Given the description of an element on the screen output the (x, y) to click on. 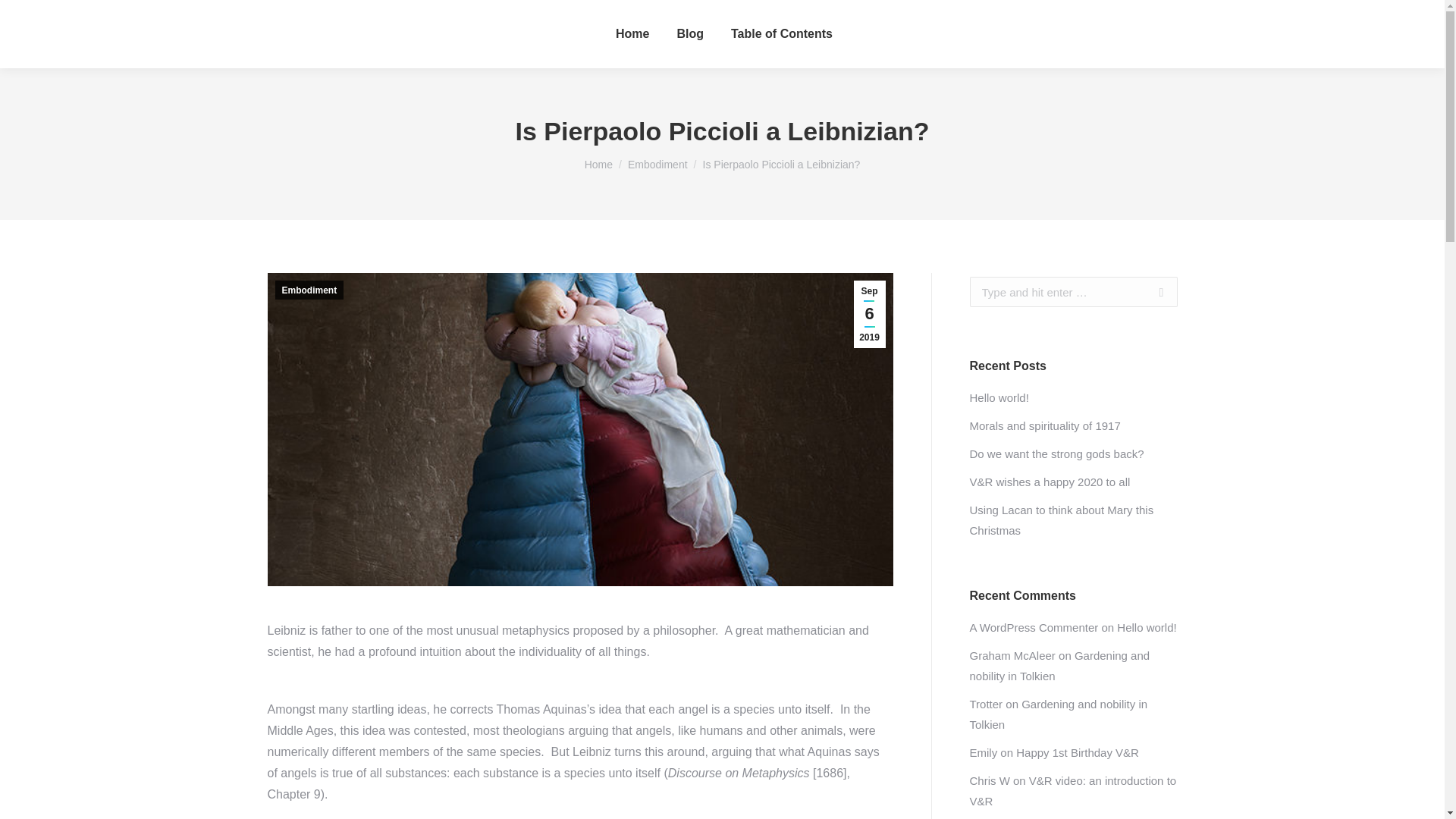
Home (632, 33)
Table of Contents (781, 33)
Home (598, 164)
Embodiment (309, 289)
Go! (1153, 291)
Go! (1153, 291)
Embodiment (657, 164)
